Given the description of an element on the screen output the (x, y) to click on. 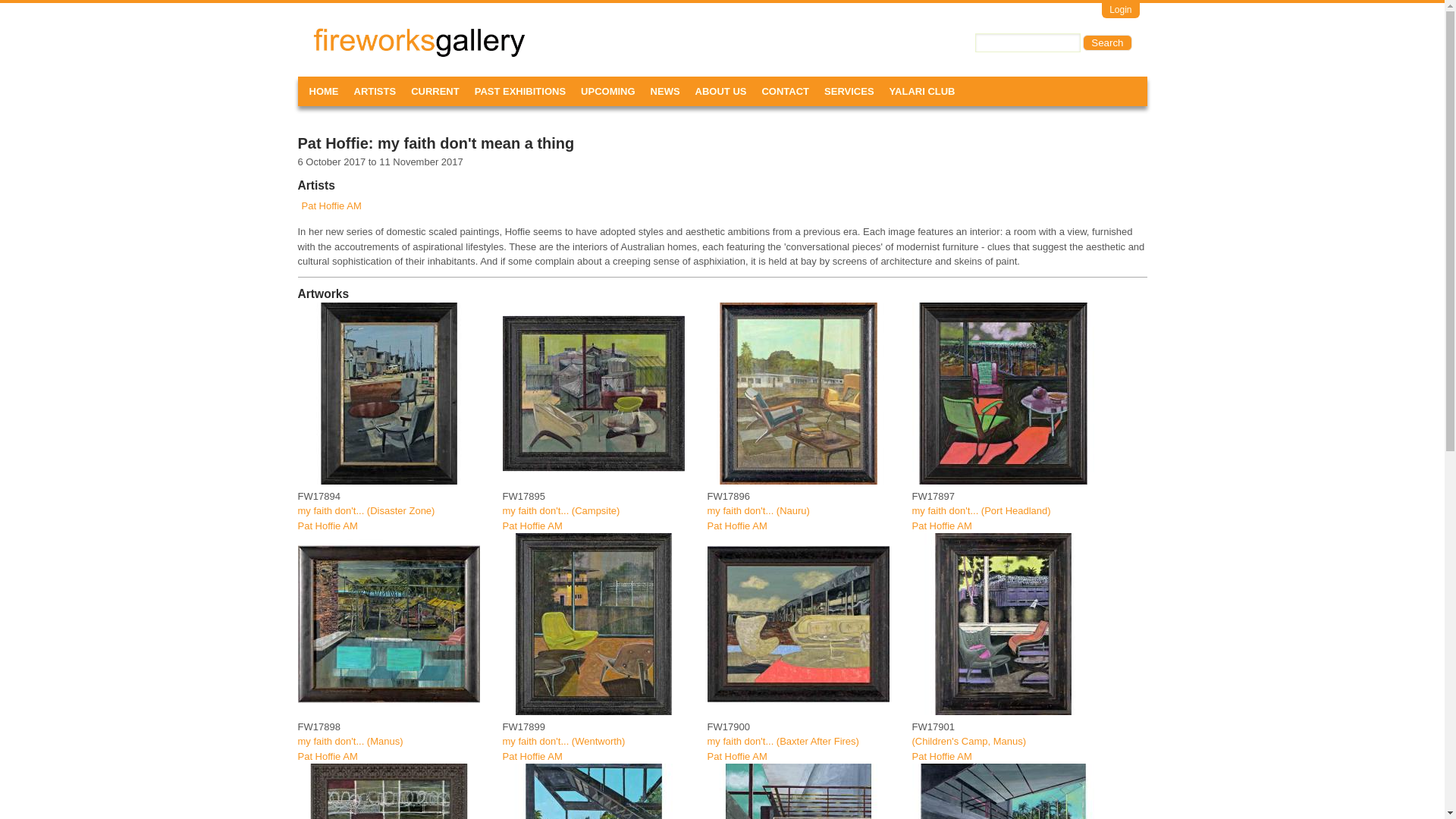
Home page (418, 53)
ABOUT US (720, 91)
Pat Hoffie AM (736, 756)
YALARI CLUB (922, 91)
Home page (359, 47)
FireWorks Gallery (359, 47)
Pat Hoffie AM (532, 756)
CURRENT (435, 91)
Login (1120, 10)
UPCOMING (608, 91)
